Given the description of an element on the screen output the (x, y) to click on. 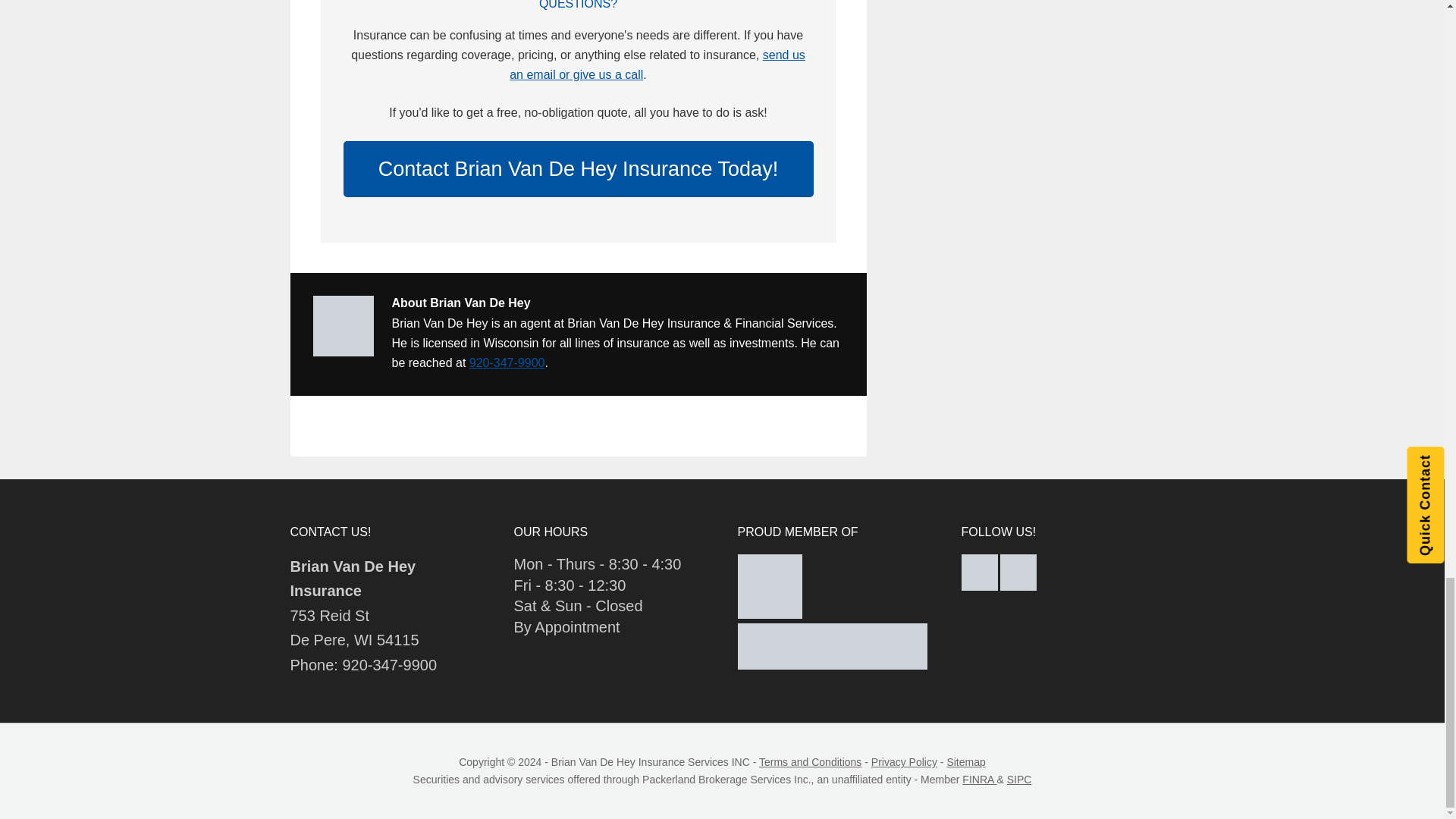
Contact Brian Van De Hey Insurance Today! (577, 168)
920-347-9900 (506, 362)
send us an email or give us a call (657, 64)
